Given the description of an element on the screen output the (x, y) to click on. 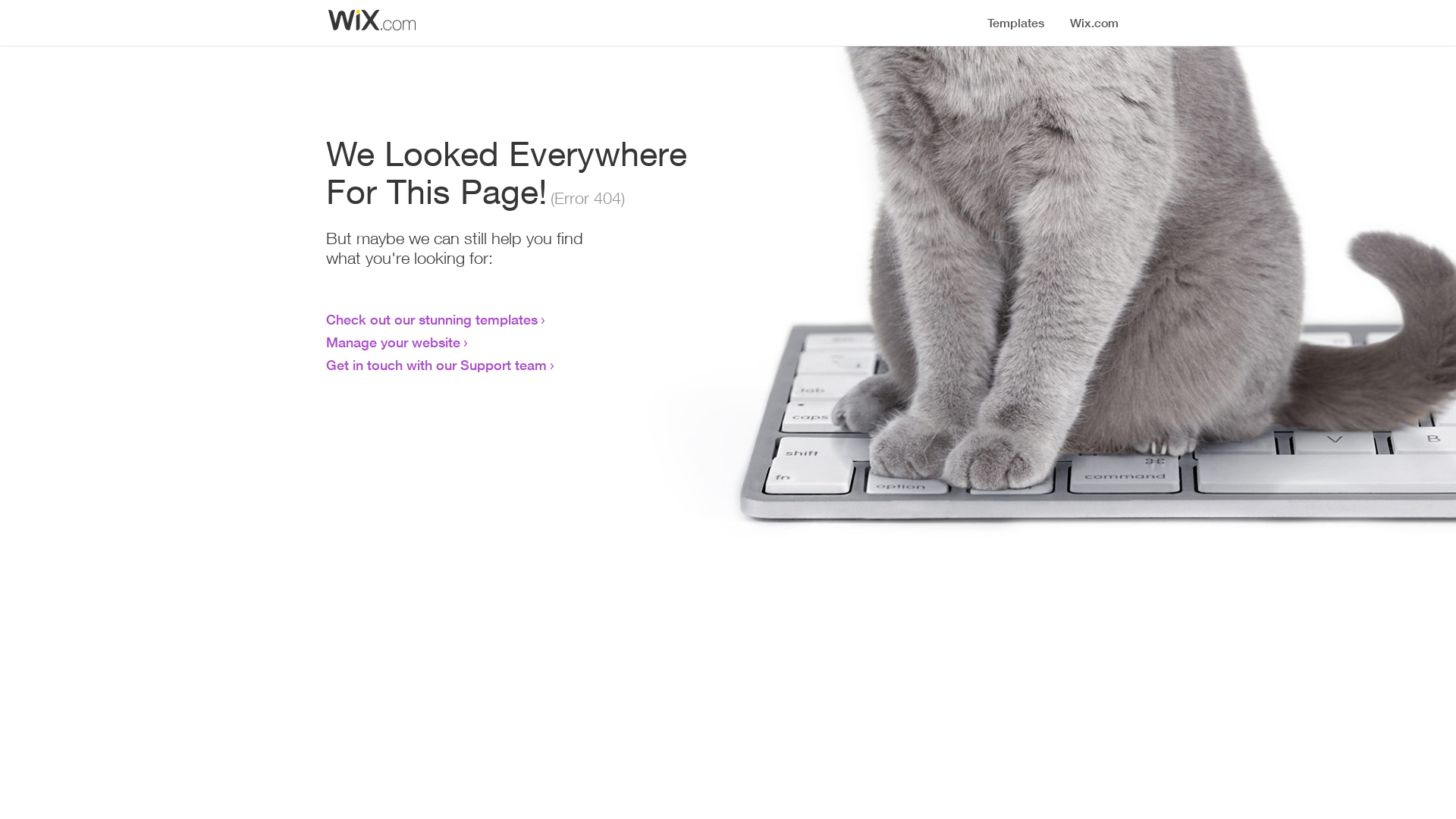
Check out our stunning templates Element type: text (431, 318)
Manage your website Element type: text (393, 341)
Get in touch with our Support team Element type: text (436, 364)
